Given the description of an element on the screen output the (x, y) to click on. 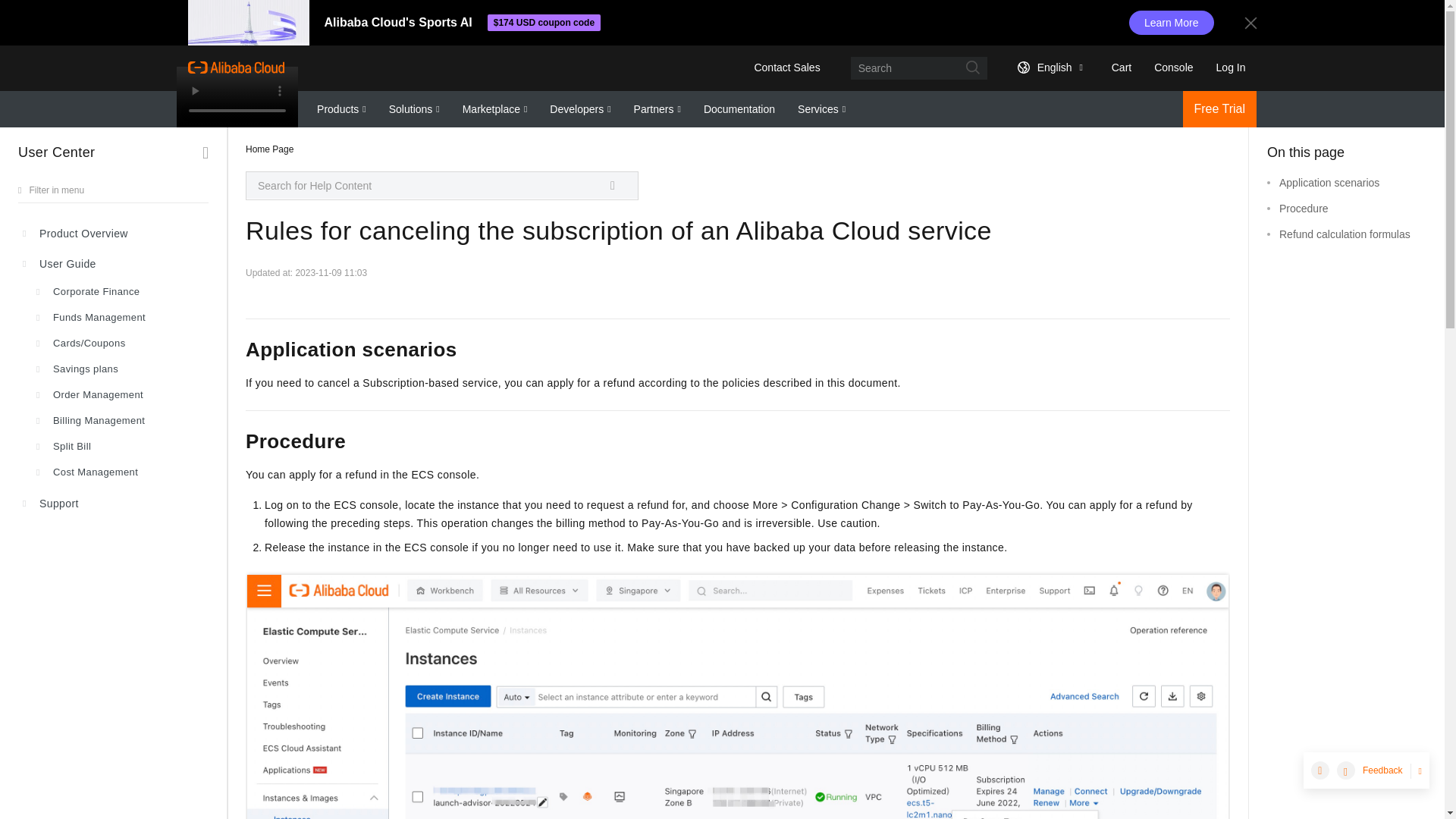
  Cart (1118, 67)
Alibaba Cloud (235, 67)
English (1046, 67)
Console (1173, 67)
Contact Sales (786, 67)
Log In (1231, 67)
